Given the description of an element on the screen output the (x, y) to click on. 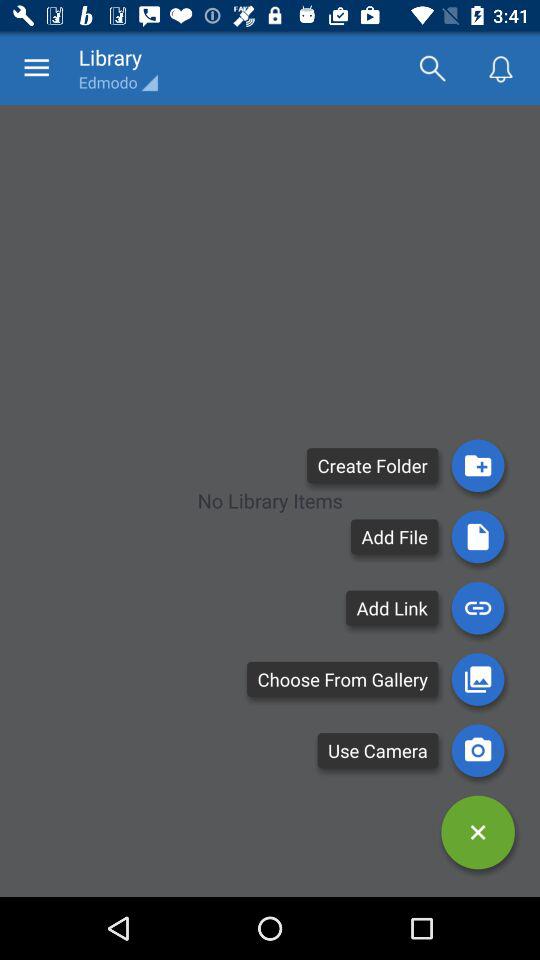
cancel the page (477, 832)
